Given the description of an element on the screen output the (x, y) to click on. 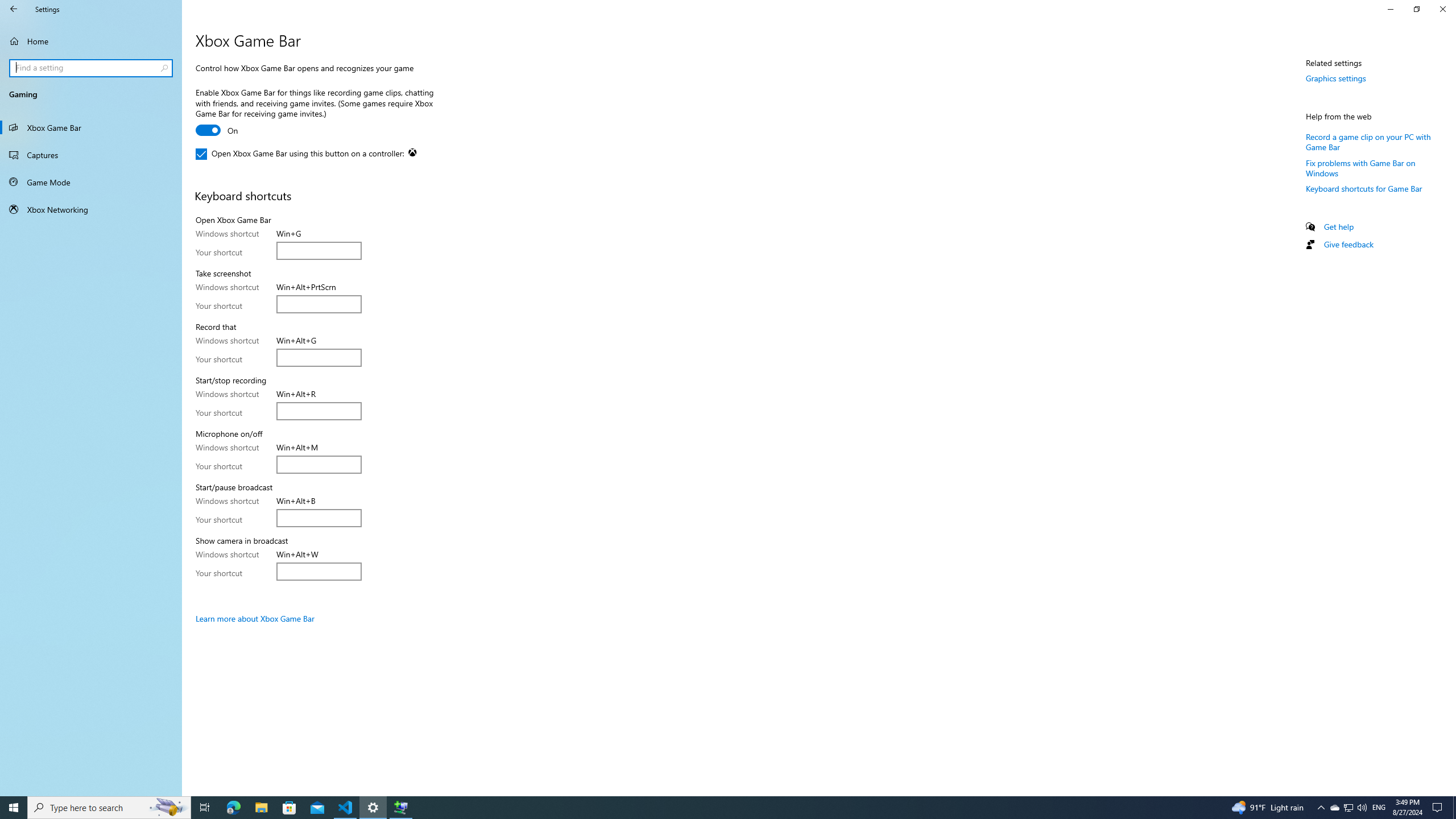
Keyboard shortcuts for Game Bar (1364, 188)
Captures (91, 154)
Xbox Networking (91, 208)
Game Mode (91, 181)
Record a game clip on your PC with Game Bar (1368, 141)
Xbox Game Bar (91, 126)
